Given the description of an element on the screen output the (x, y) to click on. 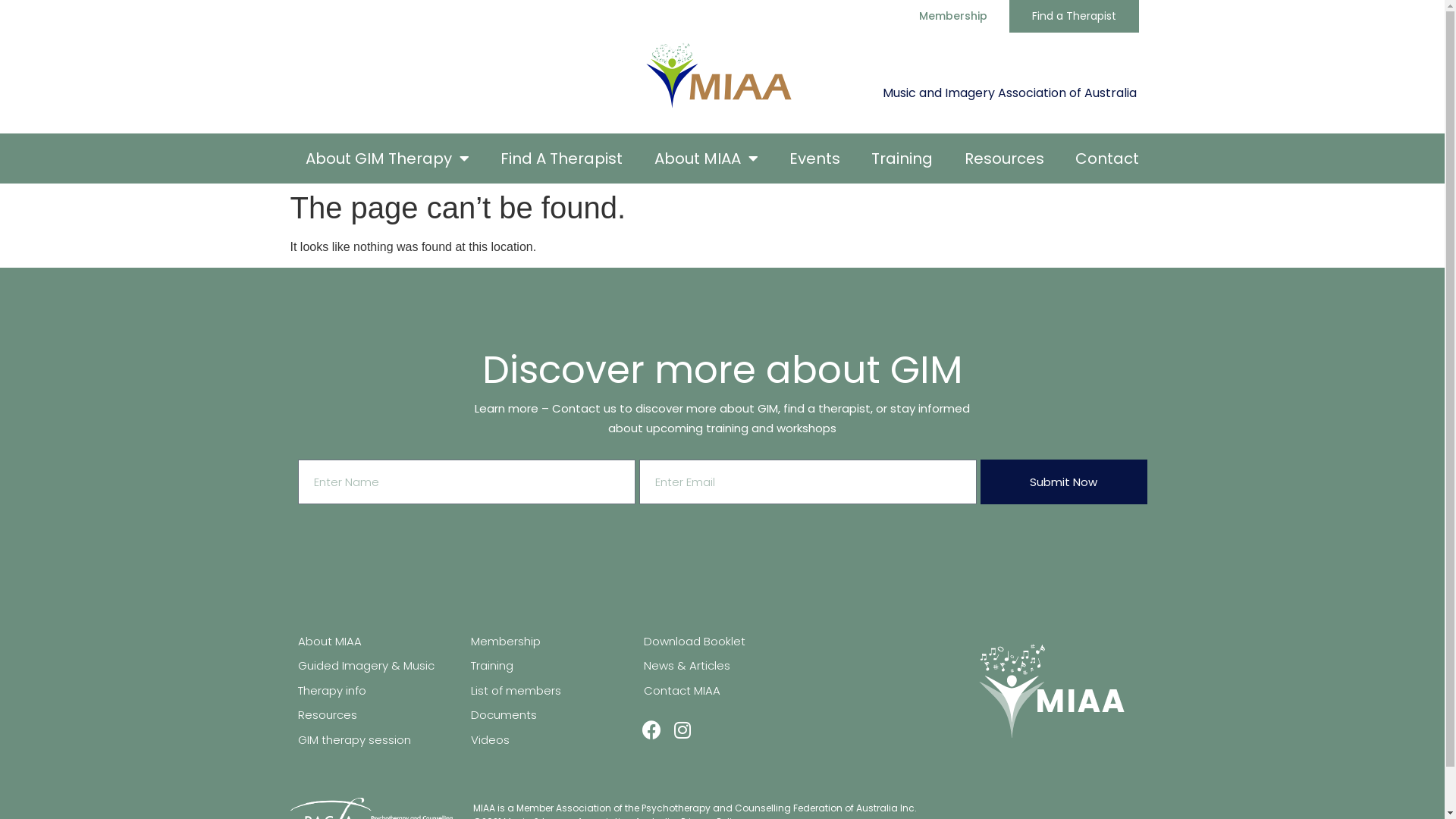
Events Element type: text (814, 158)
About GIM Therapy Element type: text (386, 158)
About MIAA Element type: text (705, 158)
Training Element type: text (548, 665)
Therapy info Element type: text (376, 690)
GIM therapy session Element type: text (376, 740)
Membership Element type: text (953, 15)
About MIAA Element type: text (376, 641)
Guided Imagery & Music Element type: text (376, 665)
Find A Therapist Element type: text (561, 158)
Contact MIAA Element type: text (721, 690)
Membership Element type: text (548, 641)
Contact Element type: text (1106, 158)
Resources Element type: text (1003, 158)
News & Articles Element type: text (721, 665)
Resources Element type: text (376, 715)
Documents Element type: text (548, 715)
Submit Now Element type: text (1062, 481)
Videos Element type: text (548, 740)
Training Element type: text (902, 158)
List of members Element type: text (548, 690)
